Given the description of an element on the screen output the (x, y) to click on. 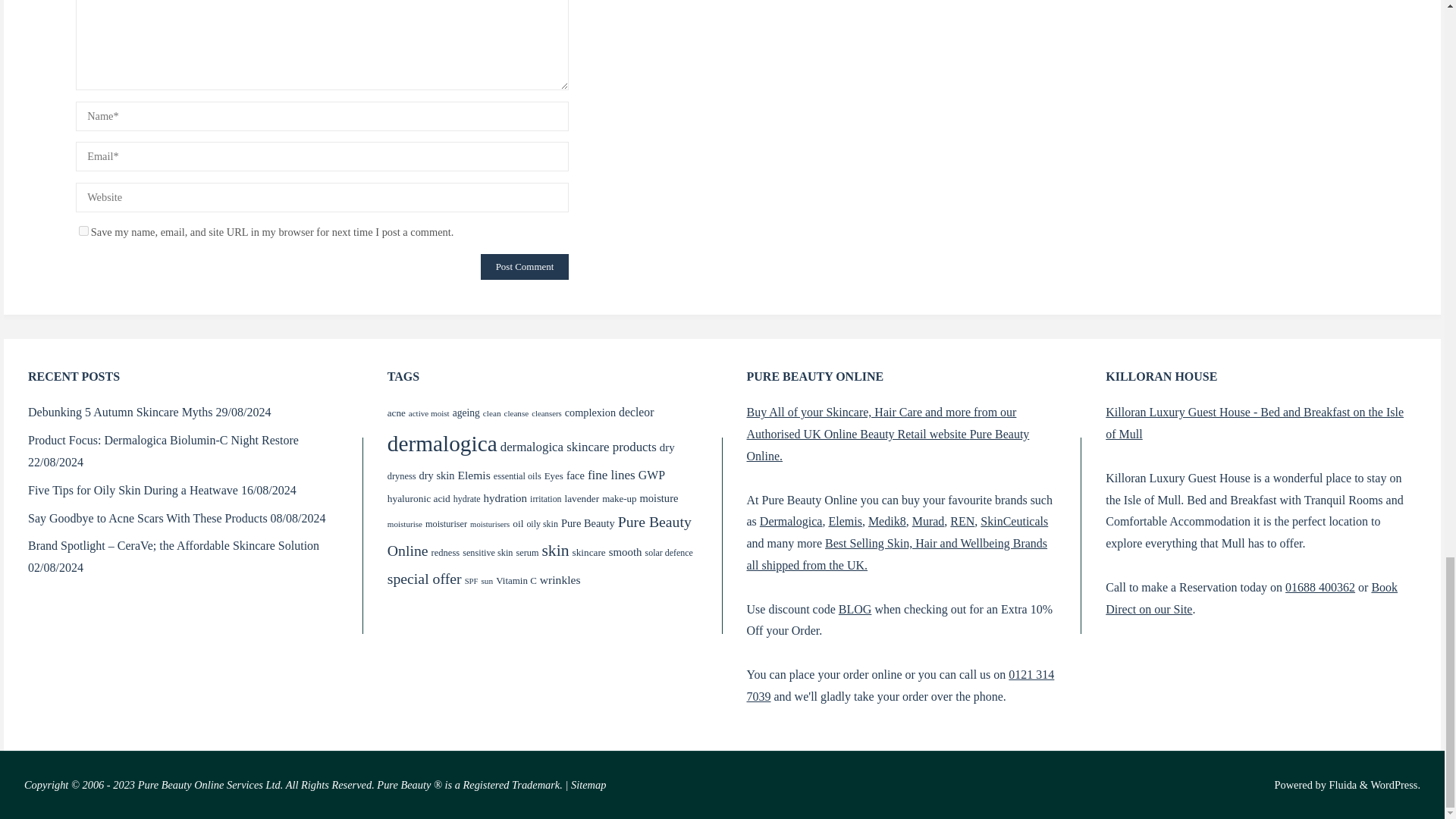
Bed and Breakfast at Killoran Luxury Guest House (1254, 422)
Semantic Personal Publishing Platform (1395, 784)
Fluida WordPress Theme by Cryout Creations (1341, 784)
yes (83, 230)
Post Comment (524, 266)
